Given the description of an element on the screen output the (x, y) to click on. 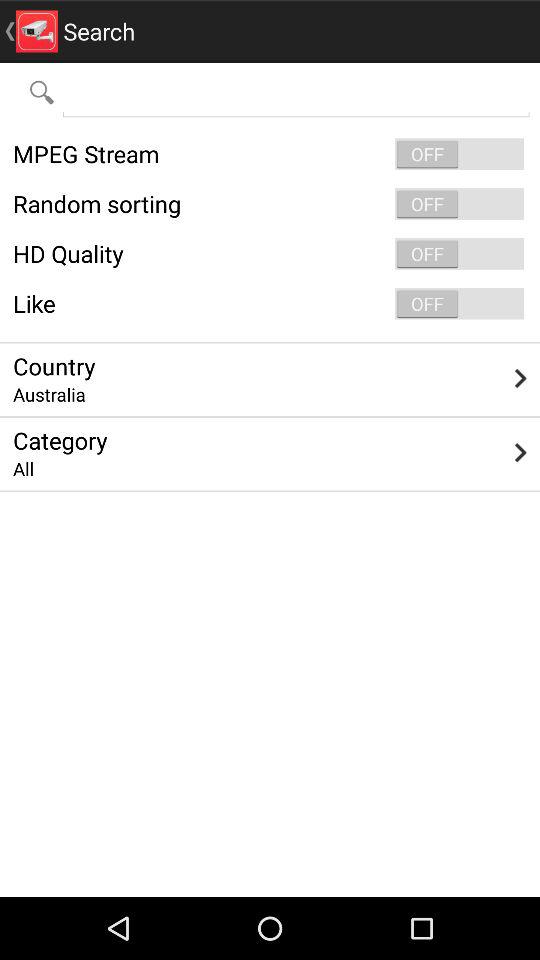
flip to random sorting (269, 203)
